Given the description of an element on the screen output the (x, y) to click on. 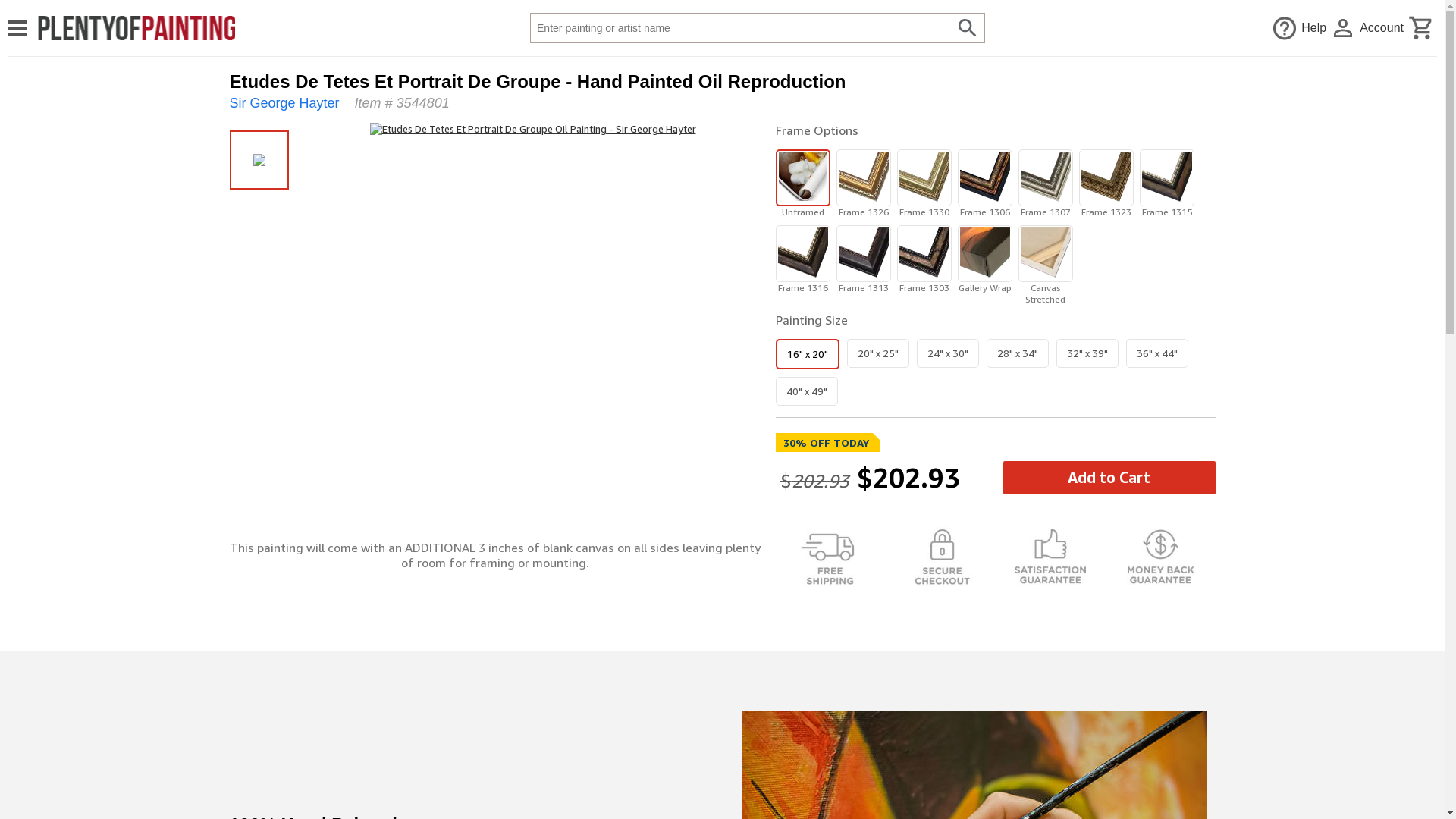
Etudes De Tetes Et Portrait De Groupe - Sir George Hayter (532, 128)
Sir George Hayter Paintings (283, 102)
